Given the description of an element on the screen output the (x, y) to click on. 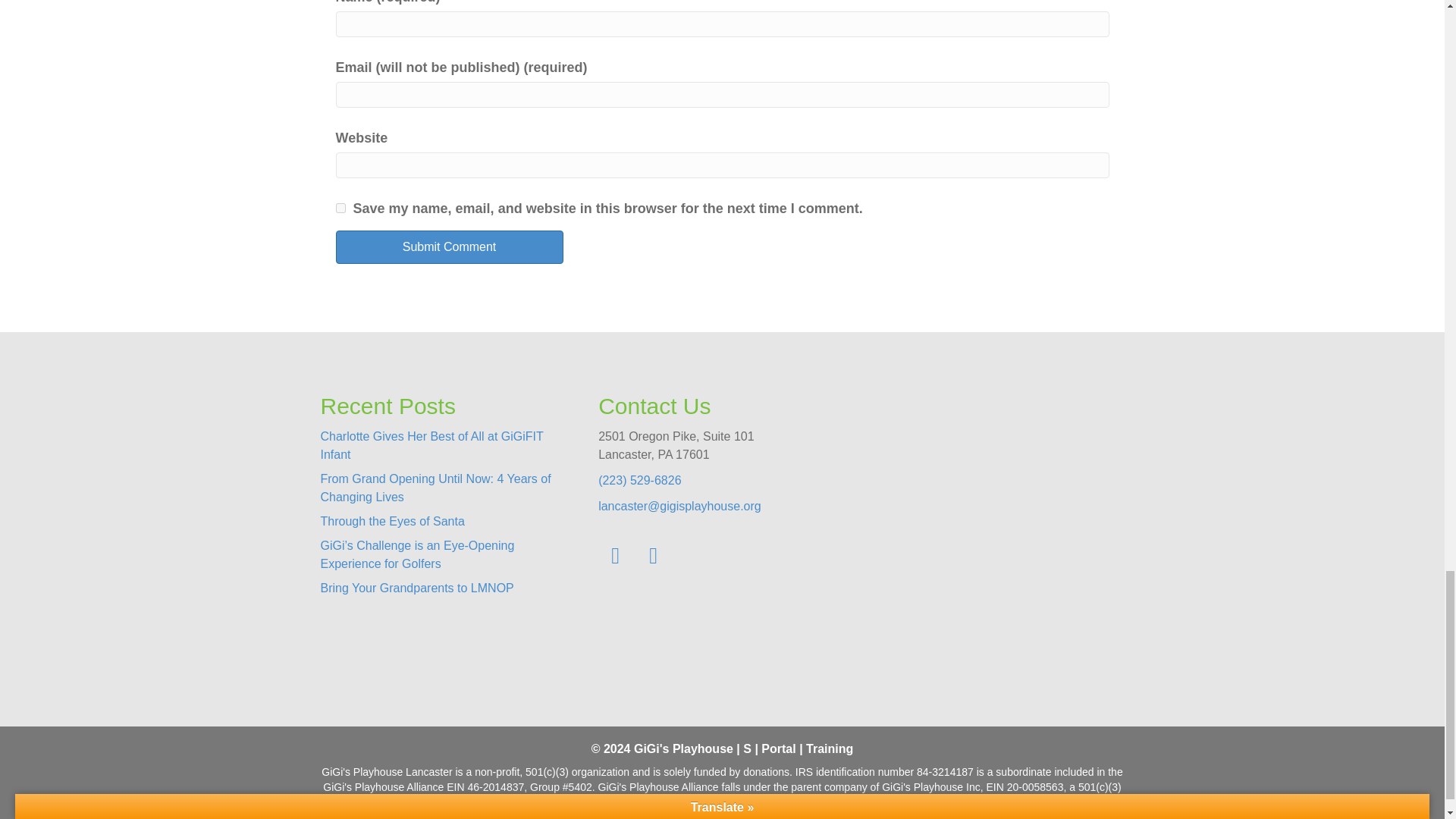
Submit Comment (448, 246)
Instagram (652, 555)
yes (339, 207)
Facebook (614, 555)
